Given the description of an element on the screen output the (x, y) to click on. 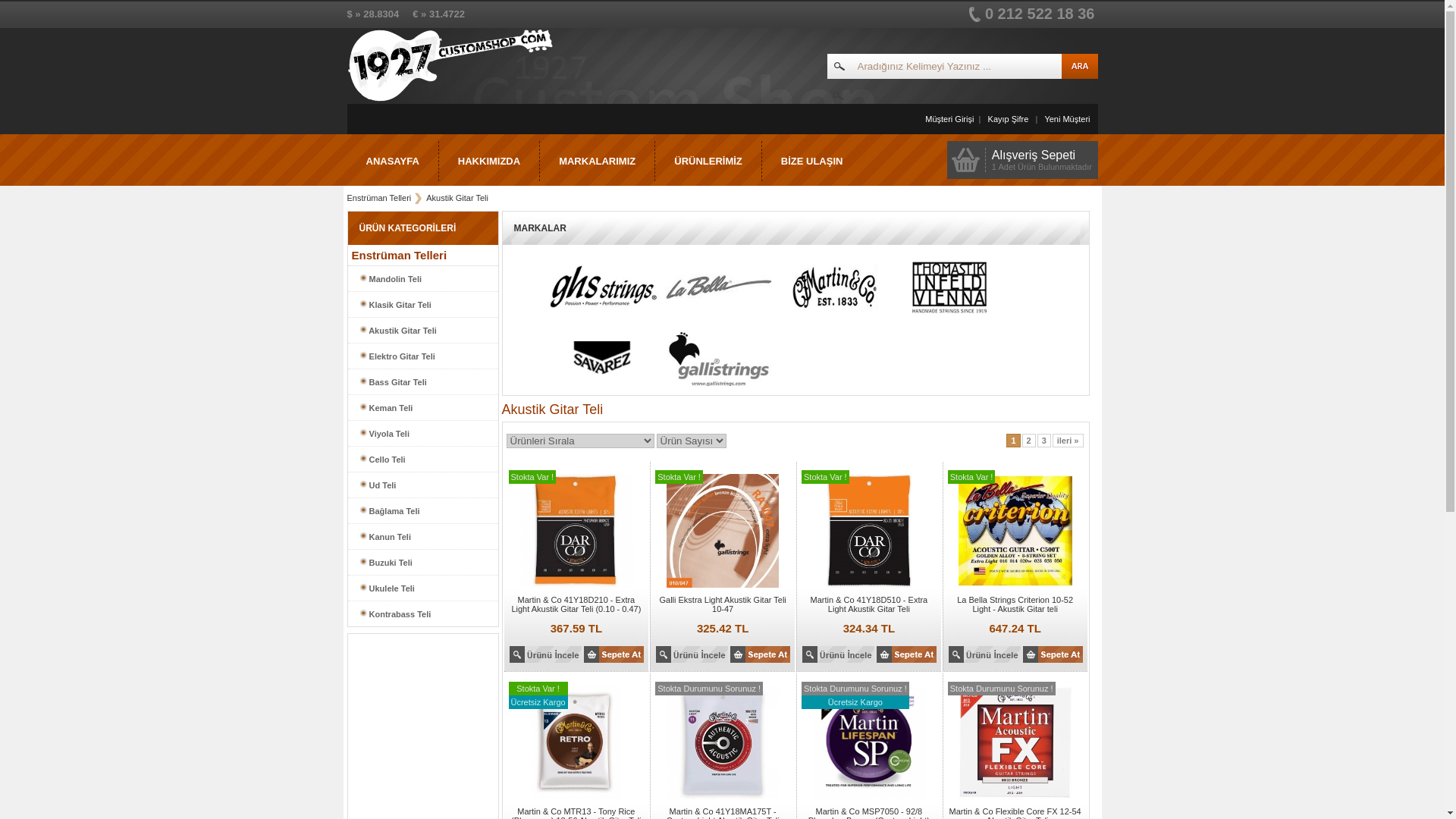
3 Element type: text (1043, 440)
Criterion 10-52 Light - Akustik Gitar teli Element type: hover (984, 659)
Akustik Gitar Teli Element type: text (422, 330)
Bass Gitar Teli Element type: text (422, 382)
41Y18D210 - Extra Light Akustik Gitar Teli (0.10 - 0.47) Element type: hover (576, 588)
GHS Strings Element type: hover (583, 313)
Akustik Gitar Teli Element type: text (457, 197)
Buzuki Teli Element type: text (422, 562)
41Y18MA175T - Custom Light Akustik Gitar Teli Element type: hover (722, 799)
Ekstra Light Akustik Gitar Teli 10-47 Element type: hover (722, 588)
Mandolin Teli Element type: text (422, 278)
Criterion 10-52 Light - Akustik Gitar teli Element type: hover (1015, 588)
Savarez Element type: hover (602, 359)
Martin & Co Element type: hover (833, 286)
Klasik Gitar Teli Element type: text (422, 304)
41Y18D510 - Extra Light Akustik Gitar Teli Element type: hover (868, 588)
Galli Element type: hover (718, 359)
Ud Teli Element type: text (422, 485)
Ukulele Teli Element type: text (422, 588)
Savarez Element type: hover (583, 385)
MARKALARIMIZ Element type: text (597, 161)
Galli Element type: hover (699, 385)
Thomastik Element type: hover (948, 286)
MTR13 - Tony Rice (Bluegrass) 13-56 Akustik Gitar Teli Element type: hover (576, 799)
Thomastik Element type: hover (929, 313)
Martin & Co Element type: hover (814, 313)
ANASAYFA Element type: text (393, 161)
La Bella Strings Element type: hover (718, 286)
La Bella Strings Element type: hover (699, 313)
41Y18D210 - Extra Light Akustik Gitar Teli (0.10 - 0.47) Element type: hover (545, 659)
Keman Teli Element type: text (422, 407)
HAKKIMIZDA Element type: text (489, 161)
Elektro Gitar Teli Element type: text (422, 356)
Kontrabass Teli Element type: text (422, 613)
Flexible Core FX 12-54 - Akustik Gitar Teli Element type: hover (1015, 799)
2 Element type: text (1028, 440)
Ekstra Light Akustik Gitar Teli 10-47 Element type: hover (691, 659)
Cello Teli Element type: text (422, 459)
Viyola Teli Element type: text (422, 433)
Kanun Teli Element type: text (422, 536)
GHS Strings Element type: hover (602, 286)
41Y18D510 - Extra Light Akustik Gitar Teli Element type: hover (838, 659)
